Given the description of an element on the screen output the (x, y) to click on. 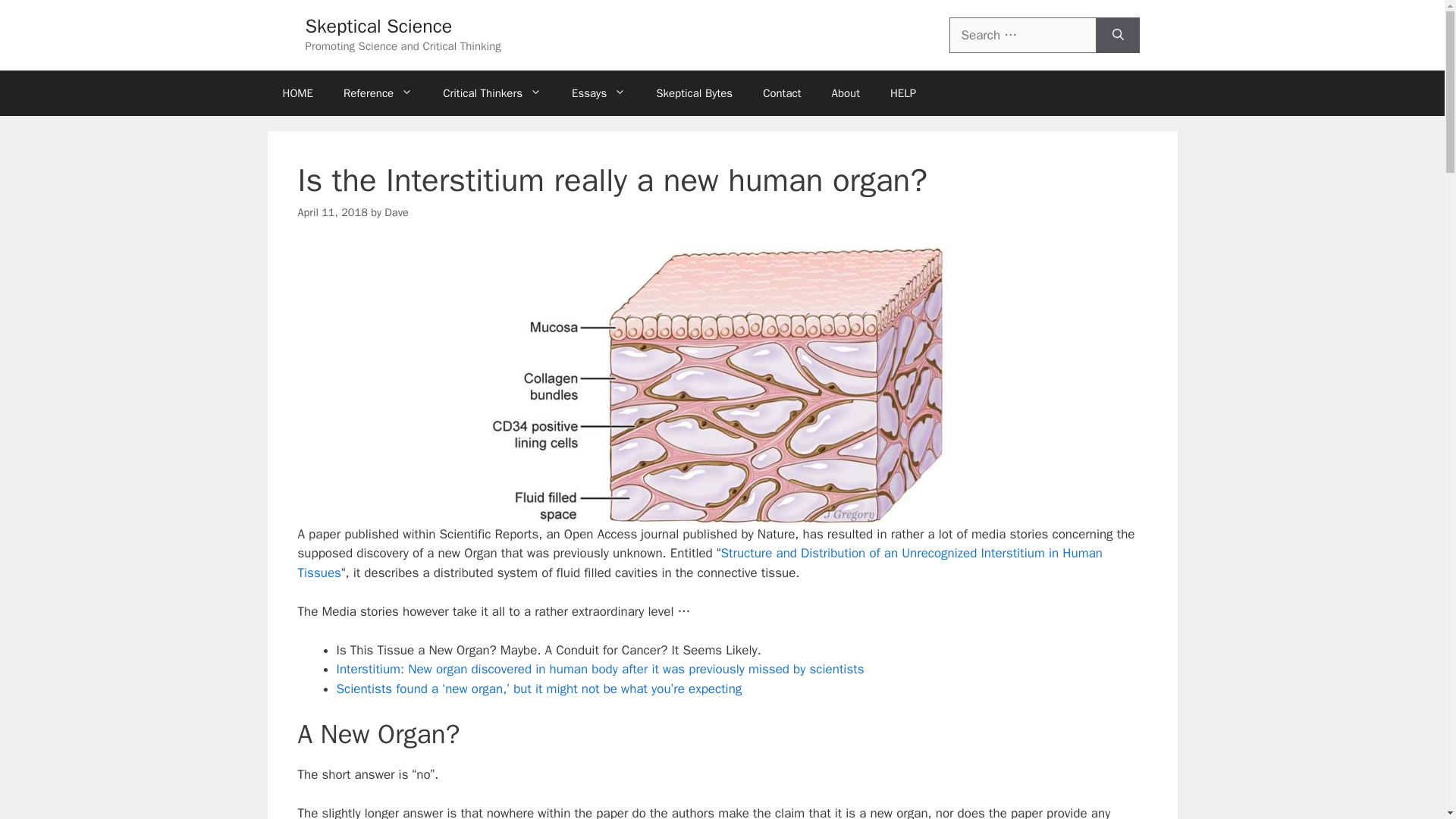
About (845, 92)
Skeptical Science (377, 25)
View all posts by Dave (395, 212)
Skeptical Bytes (694, 92)
HELP (903, 92)
Essays (598, 92)
Search for: (1022, 34)
Critical Thinkers (492, 92)
